Given the description of an element on the screen output the (x, y) to click on. 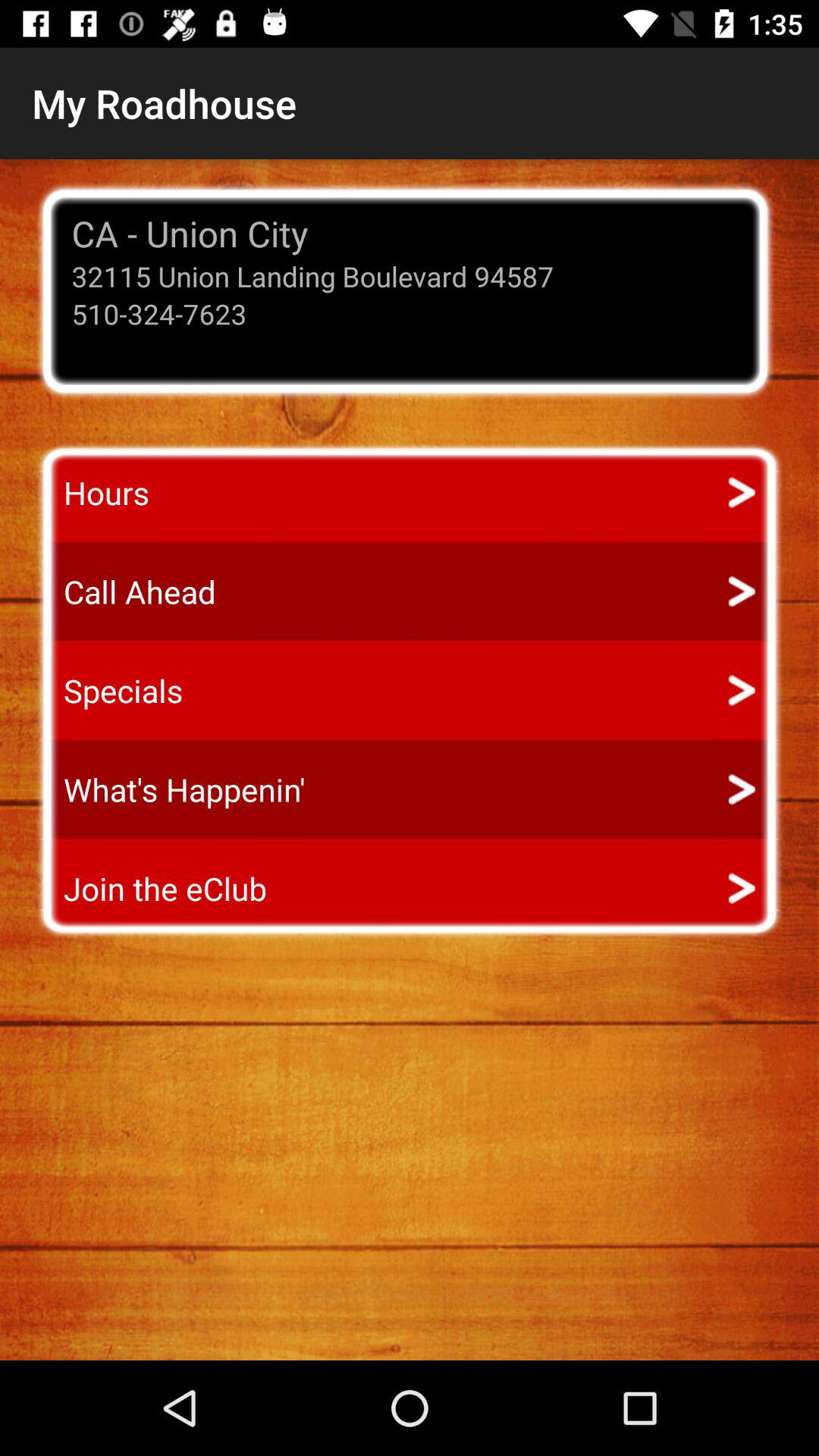
jump until specials (109, 690)
